Given the description of an element on the screen output the (x, y) to click on. 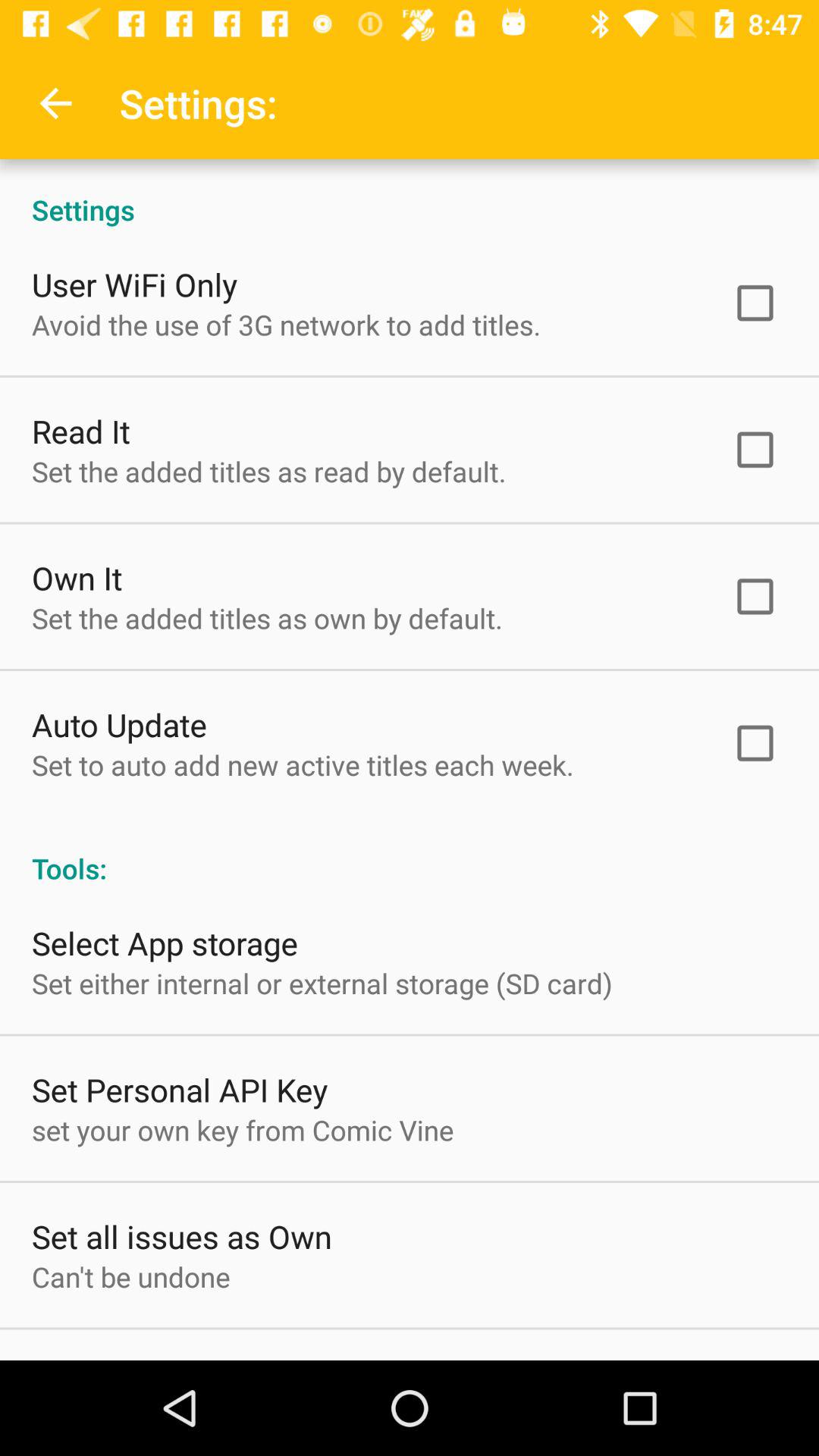
launch icon above the set either internal item (164, 942)
